Given the description of an element on the screen output the (x, y) to click on. 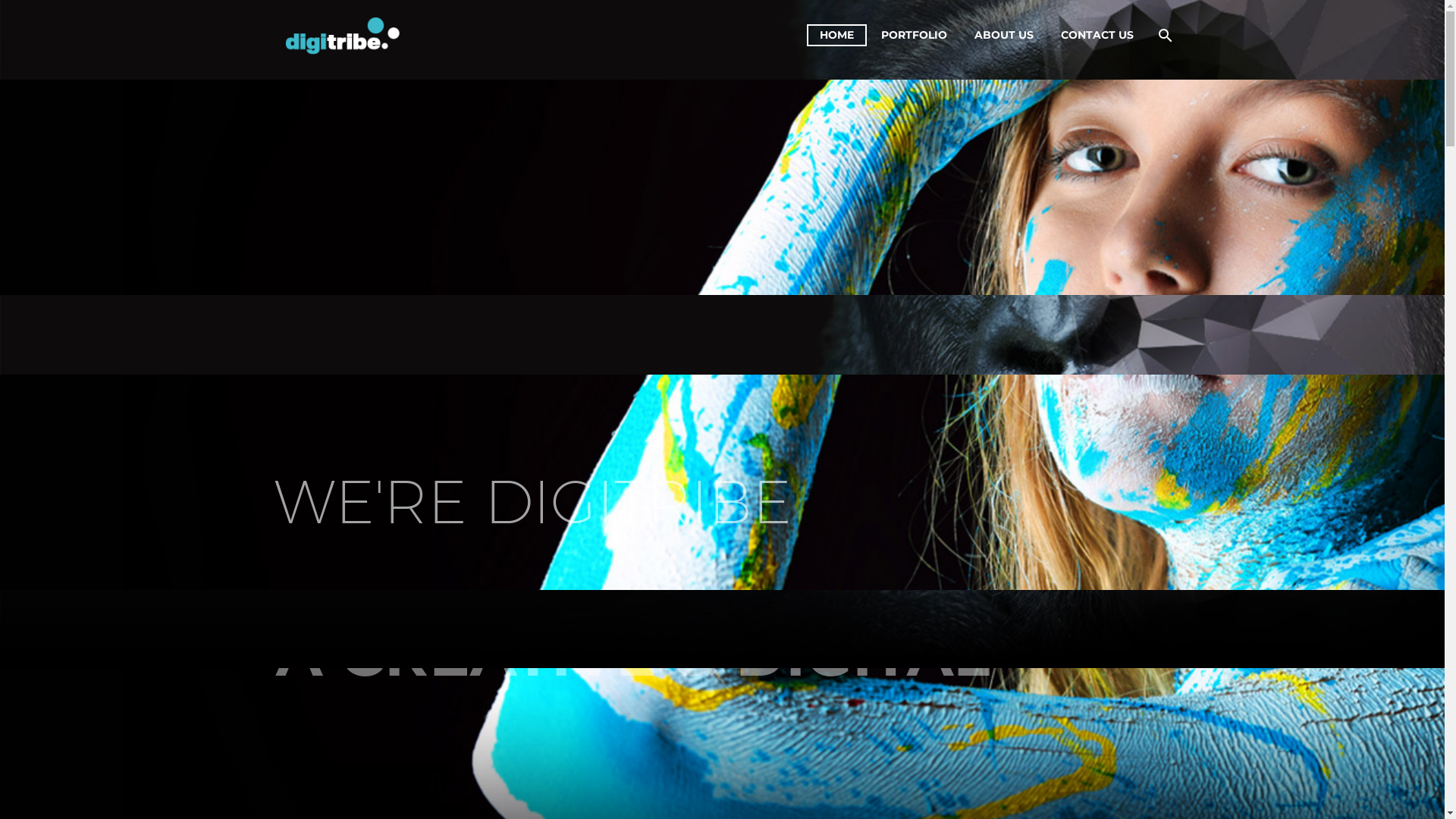
PORTFOLIO Element type: text (913, 34)
CONTACT US Element type: text (607, 576)
PORTFOLIO Element type: text (607, 500)
https://digitribe.com.au/ Element type: text (411, 600)
ABOUT US Element type: text (1003, 34)
HOME Element type: text (836, 35)
linkedin Element type: hover (1161, 780)
facebook Element type: hover (1141, 780)
Send Element type: text (837, 638)
HOME Element type: text (607, 462)
ABOUT US Element type: text (607, 538)
CONTACT US Element type: text (1097, 34)
hello@digitribe.com.au Element type: text (396, 574)
